Given the description of an element on the screen output the (x, y) to click on. 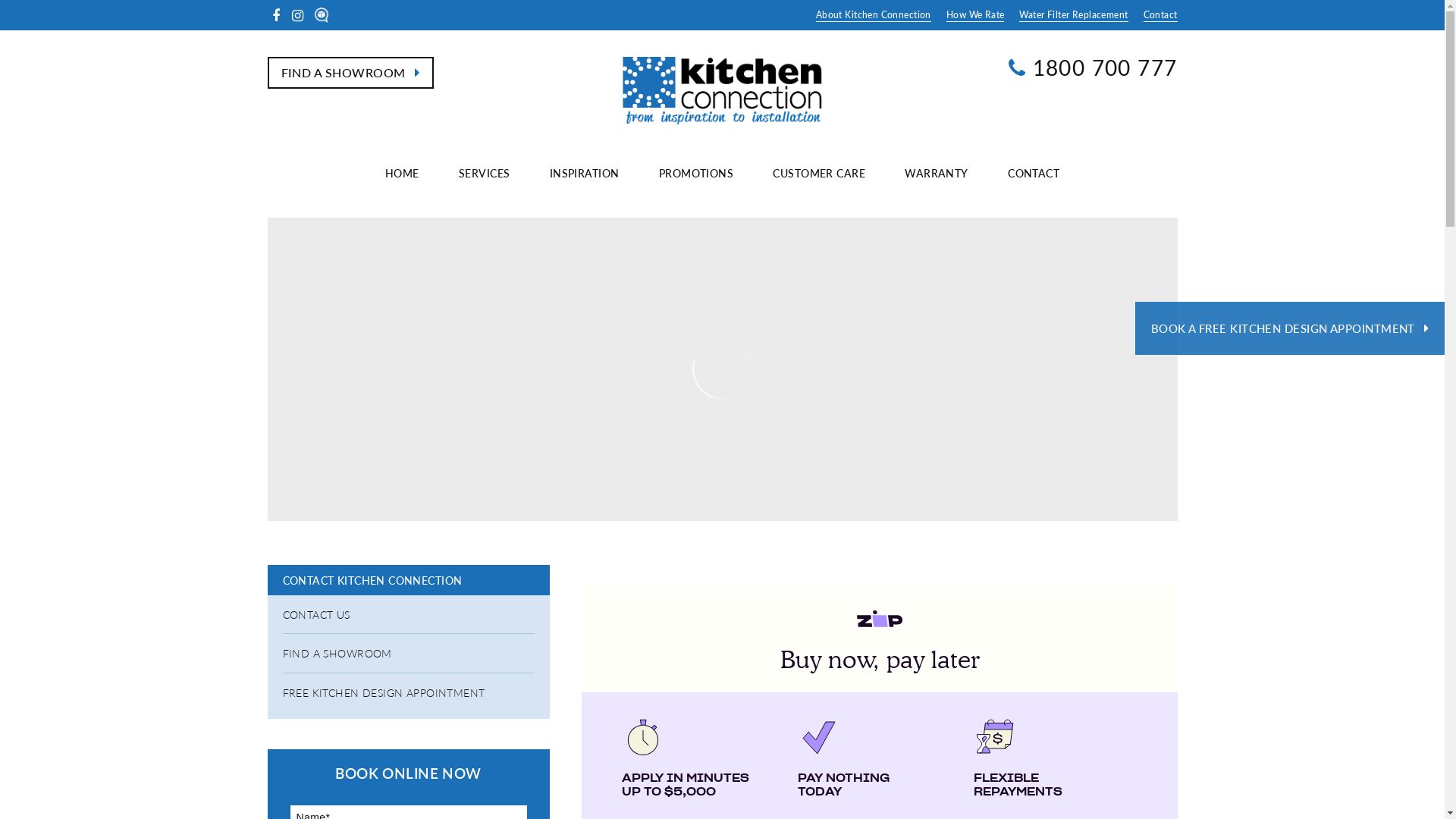
FREE KITCHEN DESIGN APPOINTMENT Element type: text (407, 692)
CONTACT Element type: text (1033, 172)
CUSTOMER CARE Element type: text (818, 172)
How We Rate Element type: text (975, 15)
About Kitchen Connection Element type: text (873, 15)
INSPIRATION Element type: text (584, 172)
FIND A SHOWROOM Element type: text (407, 652)
BOOK A FREE KITCHEN DESIGN APPOINTMENT Element type: text (1289, 327)
PROMOTIONS Element type: text (695, 172)
FIND A SHOWROOM Element type: text (349, 72)
CONTACT US Element type: text (407, 614)
HOME Element type: text (402, 172)
Water Filter Replacement Element type: text (1073, 15)
SERVICES Element type: text (483, 172)
WARRANTY Element type: text (935, 172)
Contact Element type: text (1156, 15)
